Given the description of an element on the screen output the (x, y) to click on. 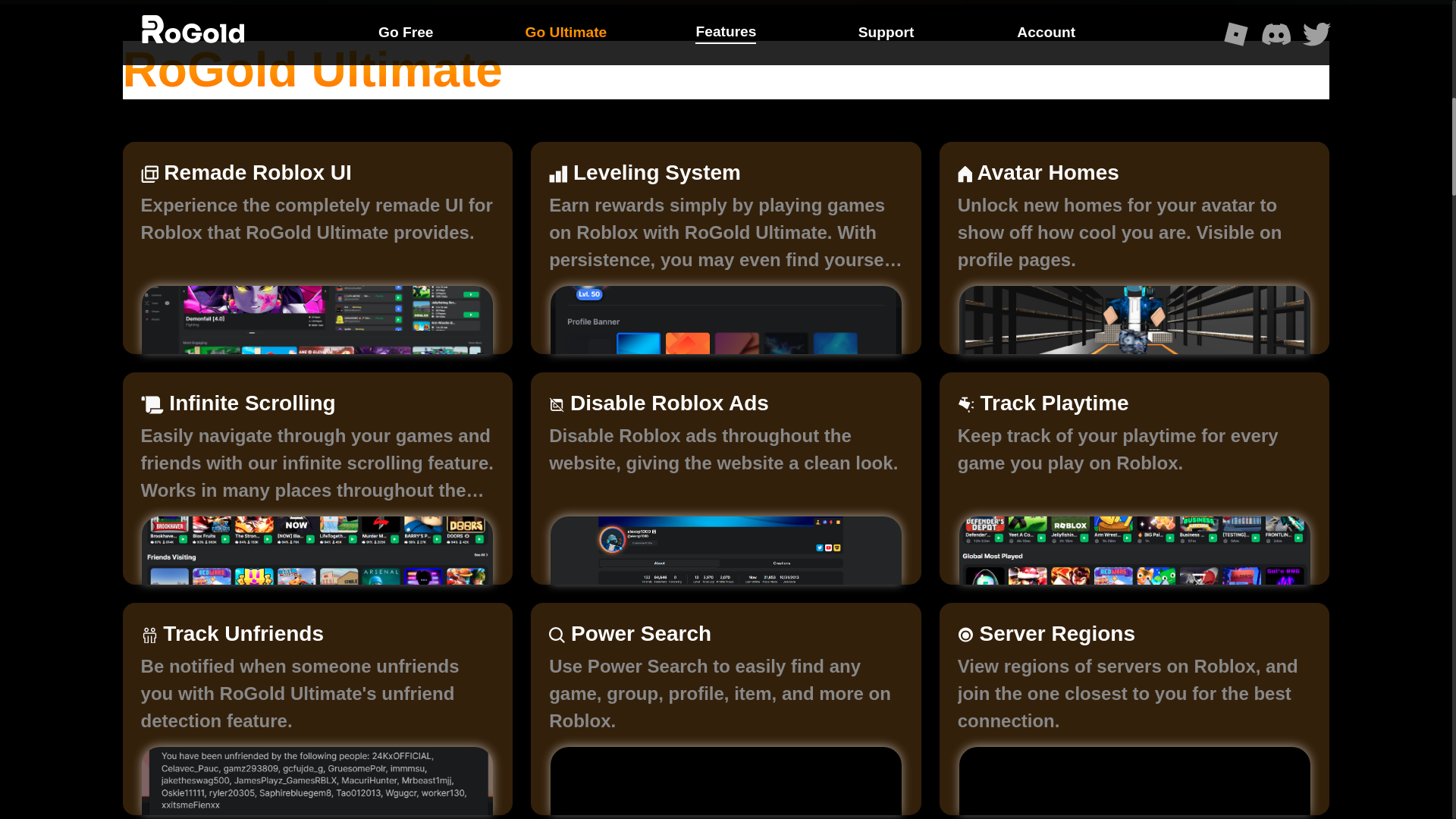
Click to enlarge (317, 780)
Click to enlarge (317, 550)
Click to enlarge (1133, 319)
Click to enlarge (1133, 550)
